Given the description of an element on the screen output the (x, y) to click on. 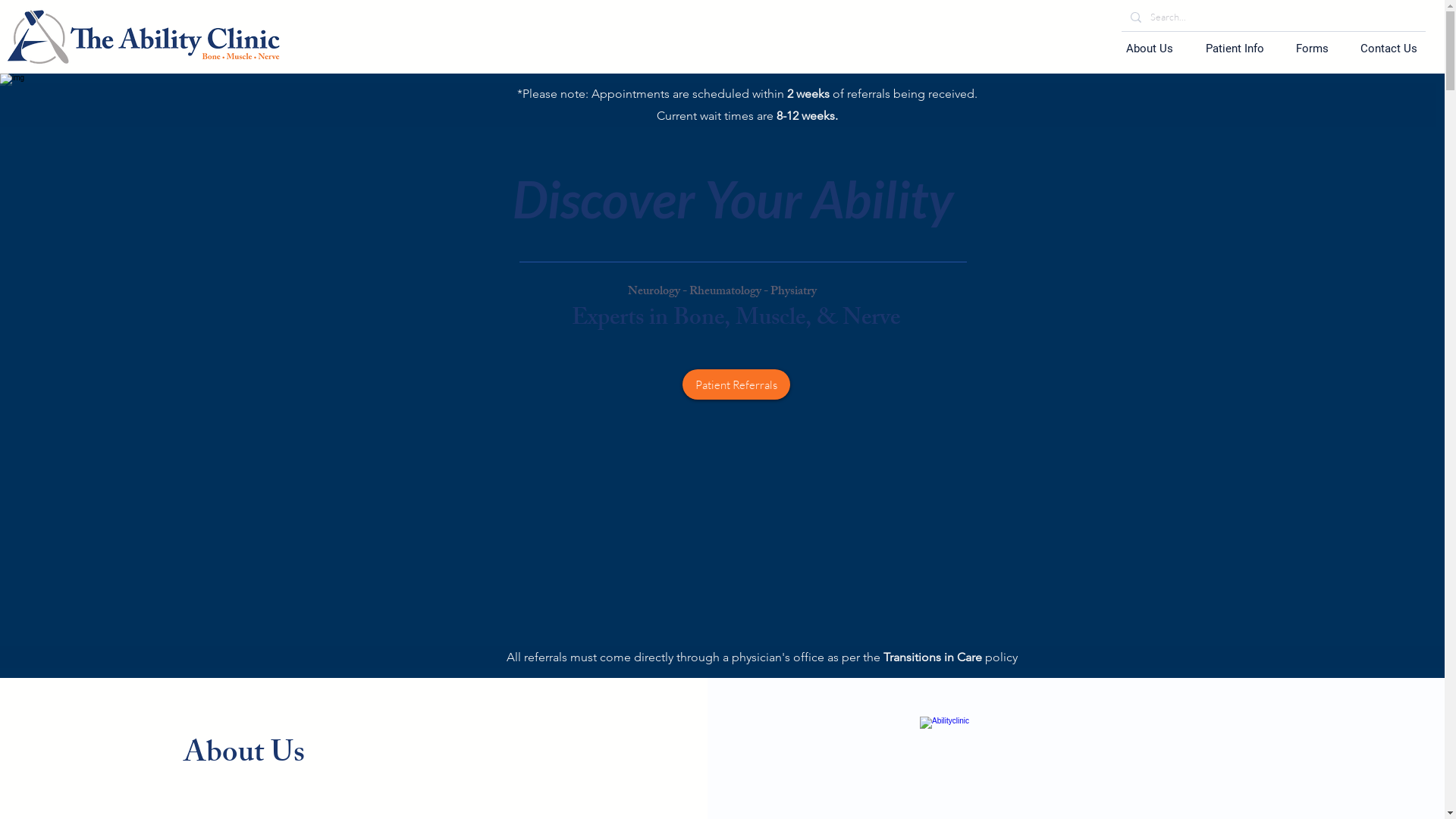
About Us Element type: text (1149, 48)
Patient Info Element type: text (1234, 48)
Patient Referrals Element type: text (736, 384)
Contact Us Element type: text (1388, 48)
Forms Element type: text (1312, 48)
